Given the description of an element on the screen output the (x, y) to click on. 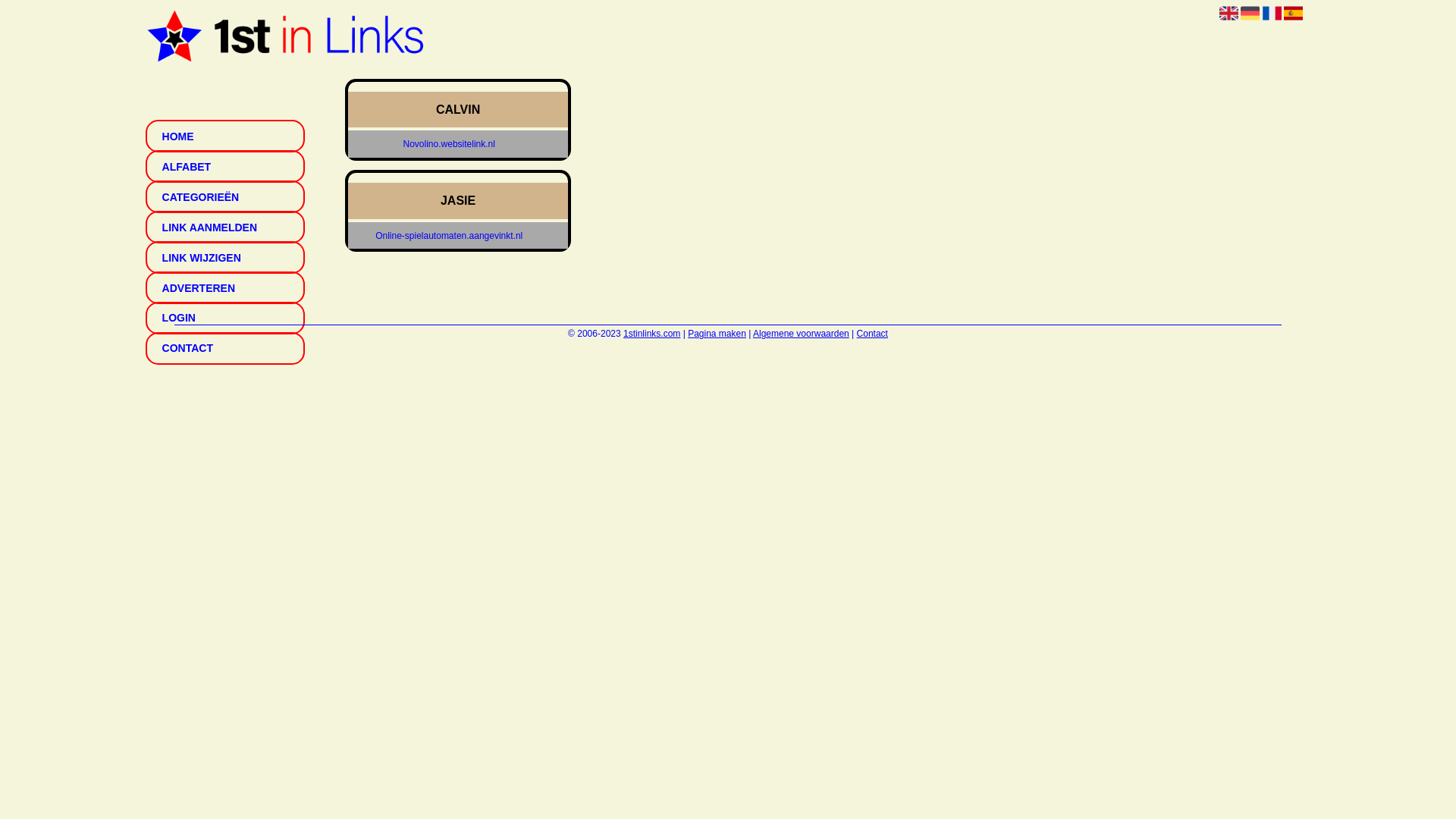
ALFABET Element type: text (224, 166)
Contact Element type: text (872, 333)
CONTACT Element type: text (224, 348)
Online-spielautomaten.aangevinkt.nl Element type: text (449, 235)
LOGIN Element type: text (224, 317)
Novolino.websitelink.nl Element type: text (449, 144)
1stinlinks.com Element type: text (651, 333)
Algemene voorwaarden Element type: text (801, 333)
Pagina maken Element type: text (716, 333)
ADVERTEREN Element type: text (224, 287)
LINK AANMELDEN Element type: text (224, 226)
LINK WIJZIGEN Element type: text (224, 257)
HOME Element type: text (224, 135)
